Given the description of an element on the screen output the (x, y) to click on. 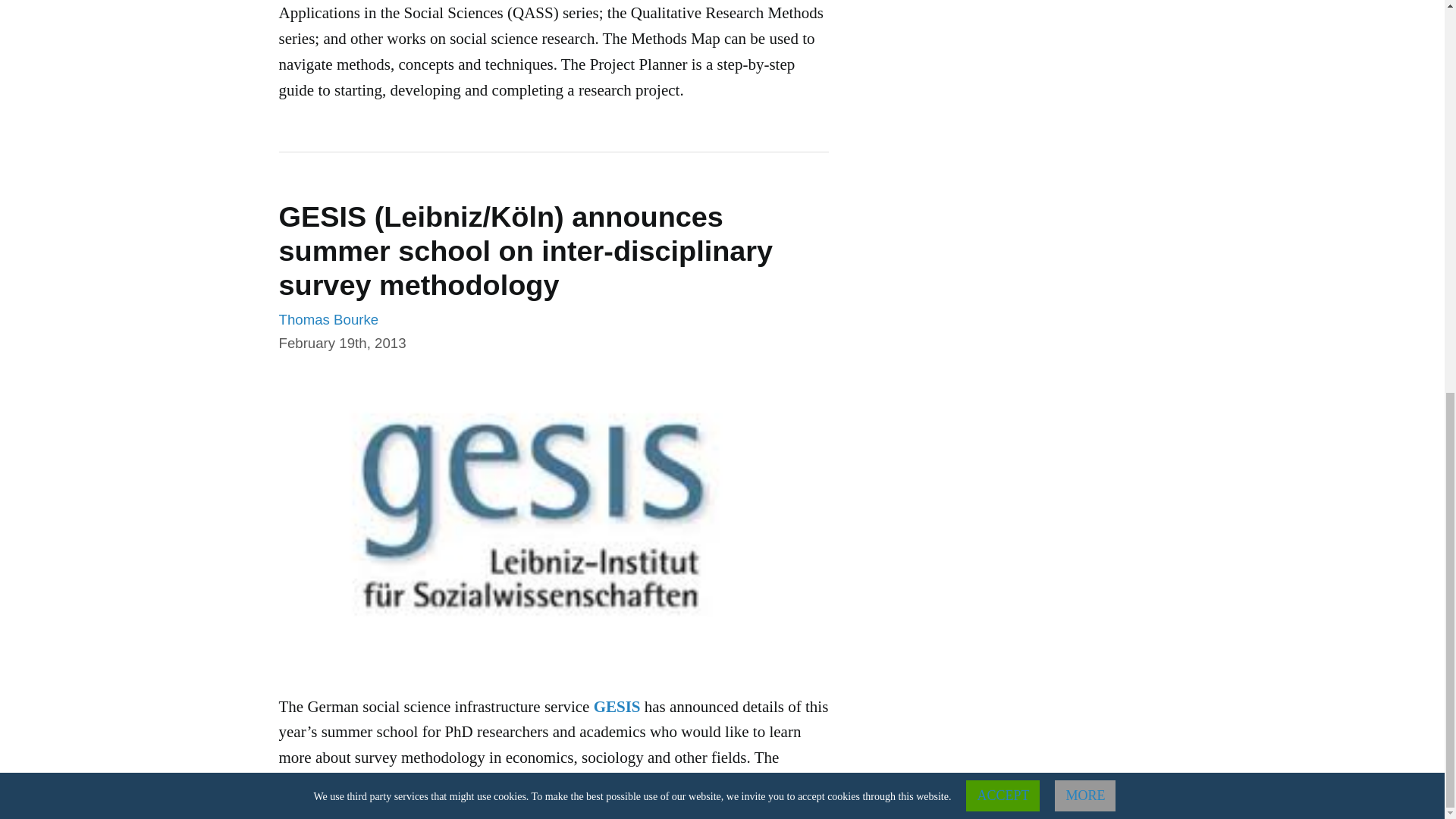
Full details are on this GESIS page (640, 782)
GESIS (617, 706)
MORE (1084, 41)
Thomas Bourke (328, 319)
ACCEPT (1002, 41)
